Given the description of an element on the screen output the (x, y) to click on. 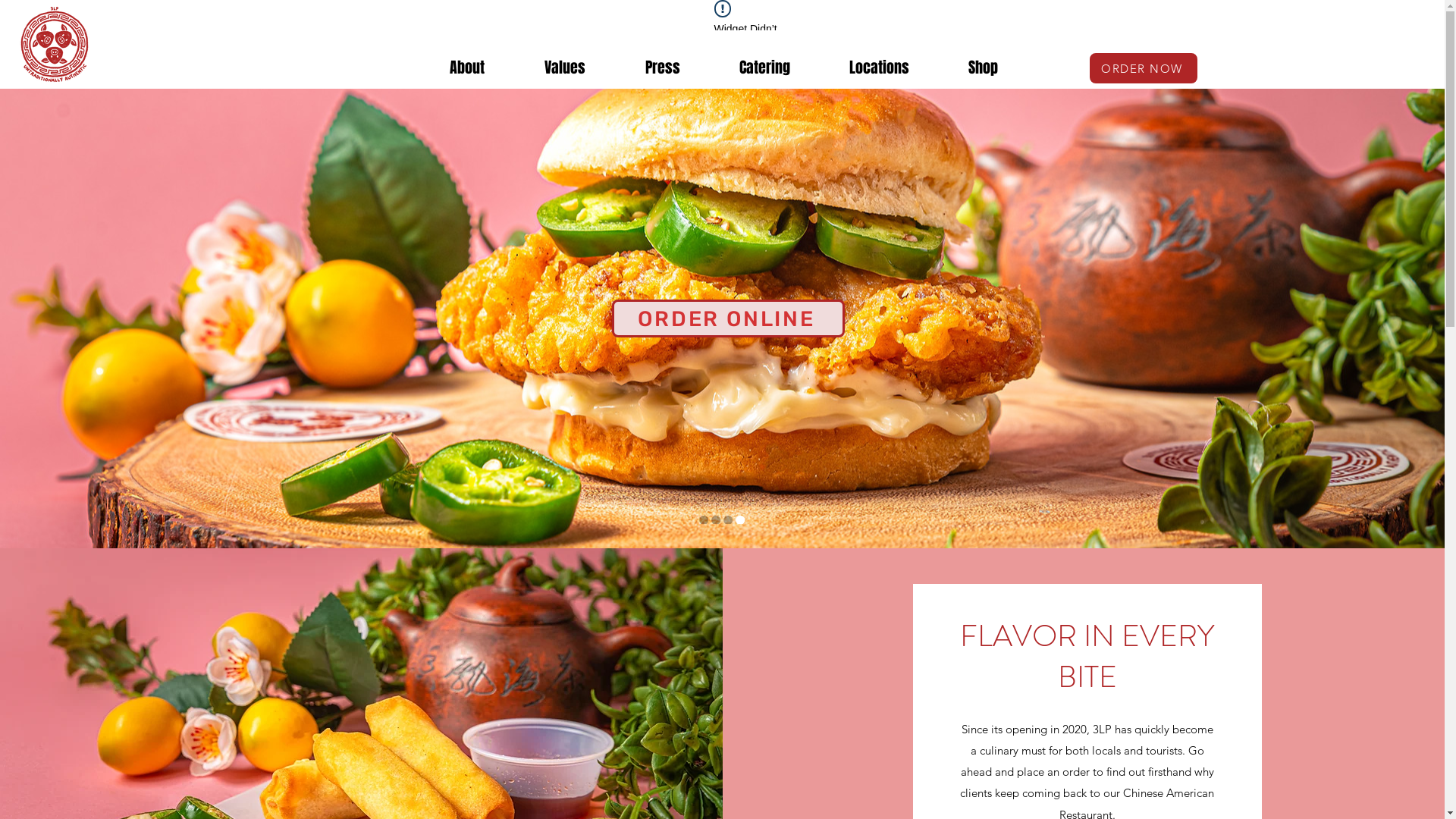
About Element type: text (466, 67)
ORDER NOW Element type: text (1143, 68)
Locations Element type: text (878, 67)
Catering Element type: text (764, 67)
ORDER ONLINE Element type: text (727, 318)
Values Element type: text (564, 67)
Press Element type: text (662, 67)
Shop Element type: text (982, 67)
